Given the description of an element on the screen output the (x, y) to click on. 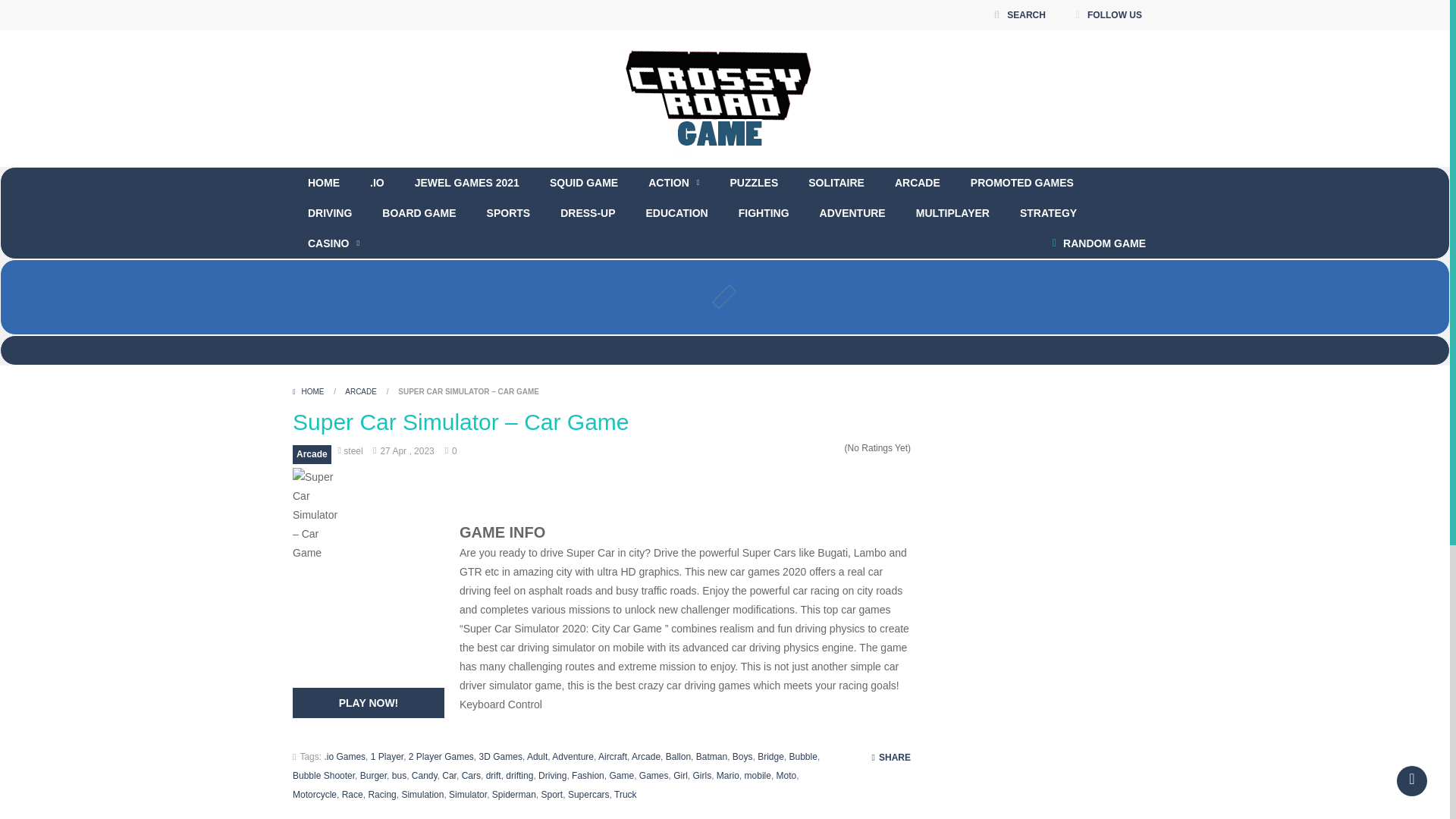
SPORTS (508, 213)
DRESS-UP (587, 213)
.IO (376, 182)
Play a random game! (1099, 243)
SEARCH (1019, 15)
SQUID GAME (583, 182)
DRIVING (329, 213)
JEWEL GAMES 2021 (466, 182)
FIGHTING (764, 213)
FOLLOW US (1108, 15)
ADVENTURE (853, 213)
HOME (323, 182)
ARCADE (917, 182)
Crossy Road Game (724, 97)
BOARD GAME (418, 213)
